Given the description of an element on the screen output the (x, y) to click on. 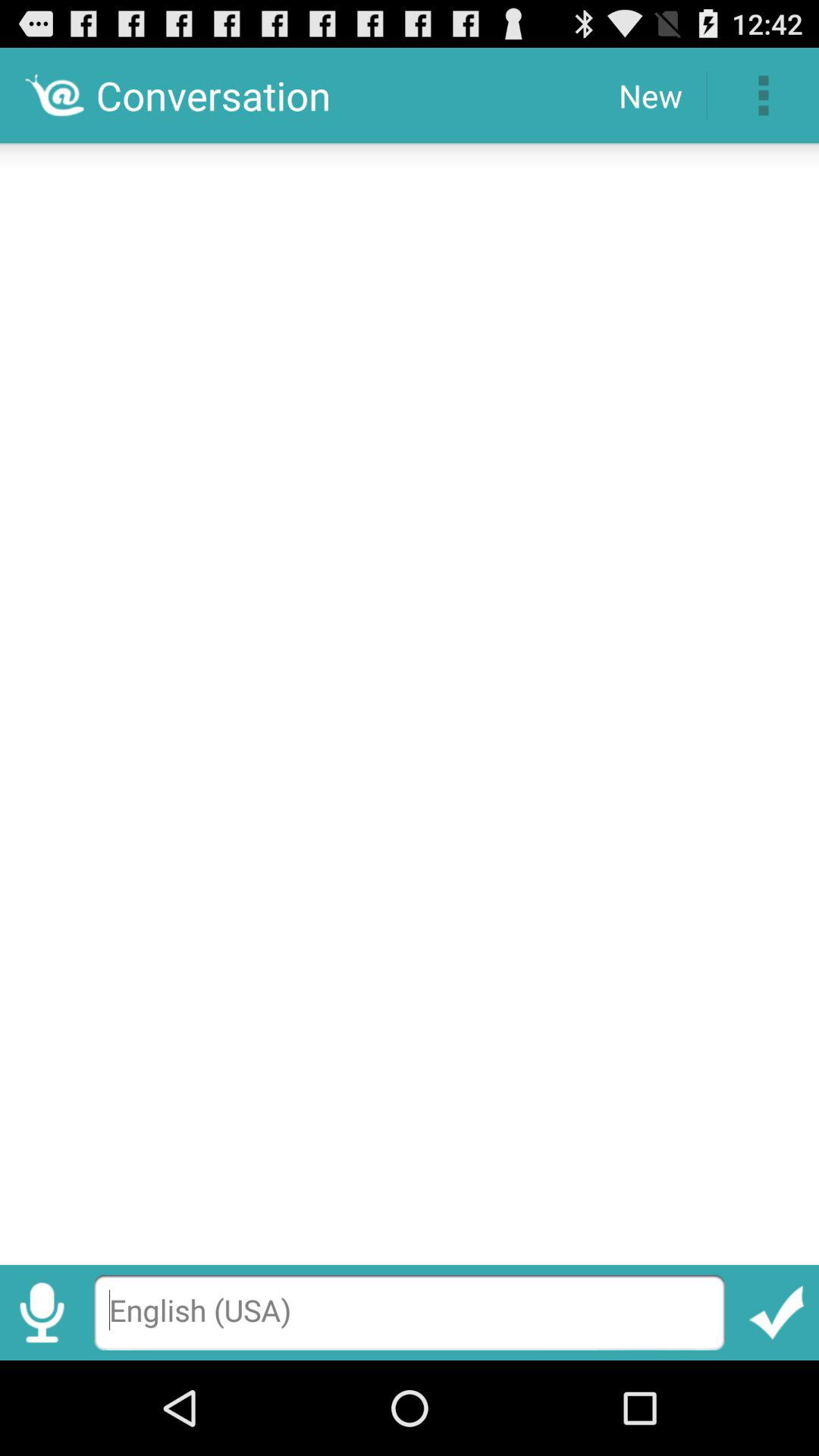
tap item next to the conversation item (650, 95)
